Given the description of an element on the screen output the (x, y) to click on. 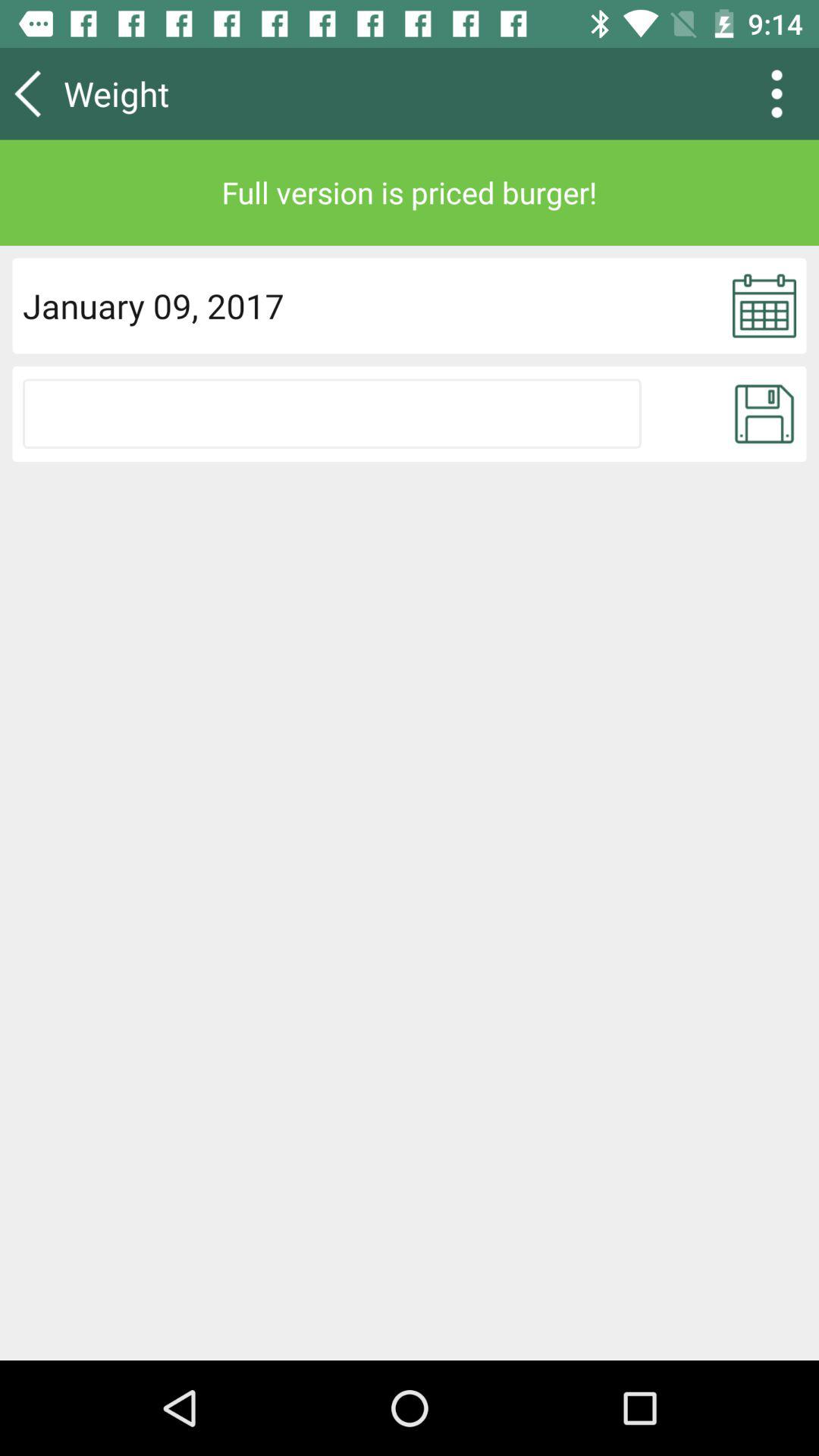
enter text (331, 413)
